Given the description of an element on the screen output the (x, y) to click on. 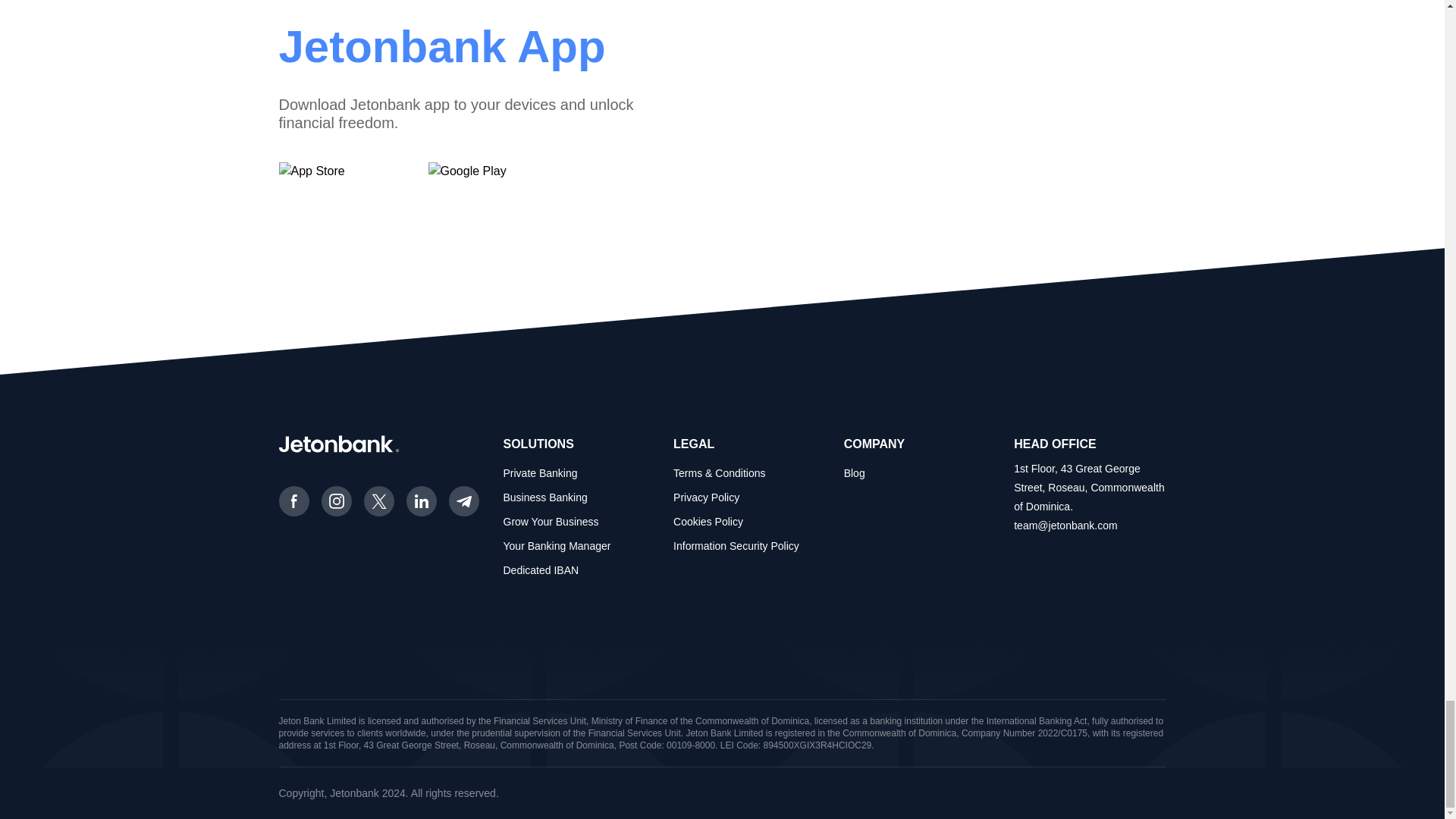
Business Banking (545, 497)
Dedicated IBAN (541, 570)
Blog (854, 472)
Your Banking Manager (557, 545)
Grow Your Business (550, 521)
Private Banking (540, 472)
Privacy Policy (705, 497)
Information Security Policy (735, 545)
Cookies Policy (707, 521)
